Given the description of an element on the screen output the (x, y) to click on. 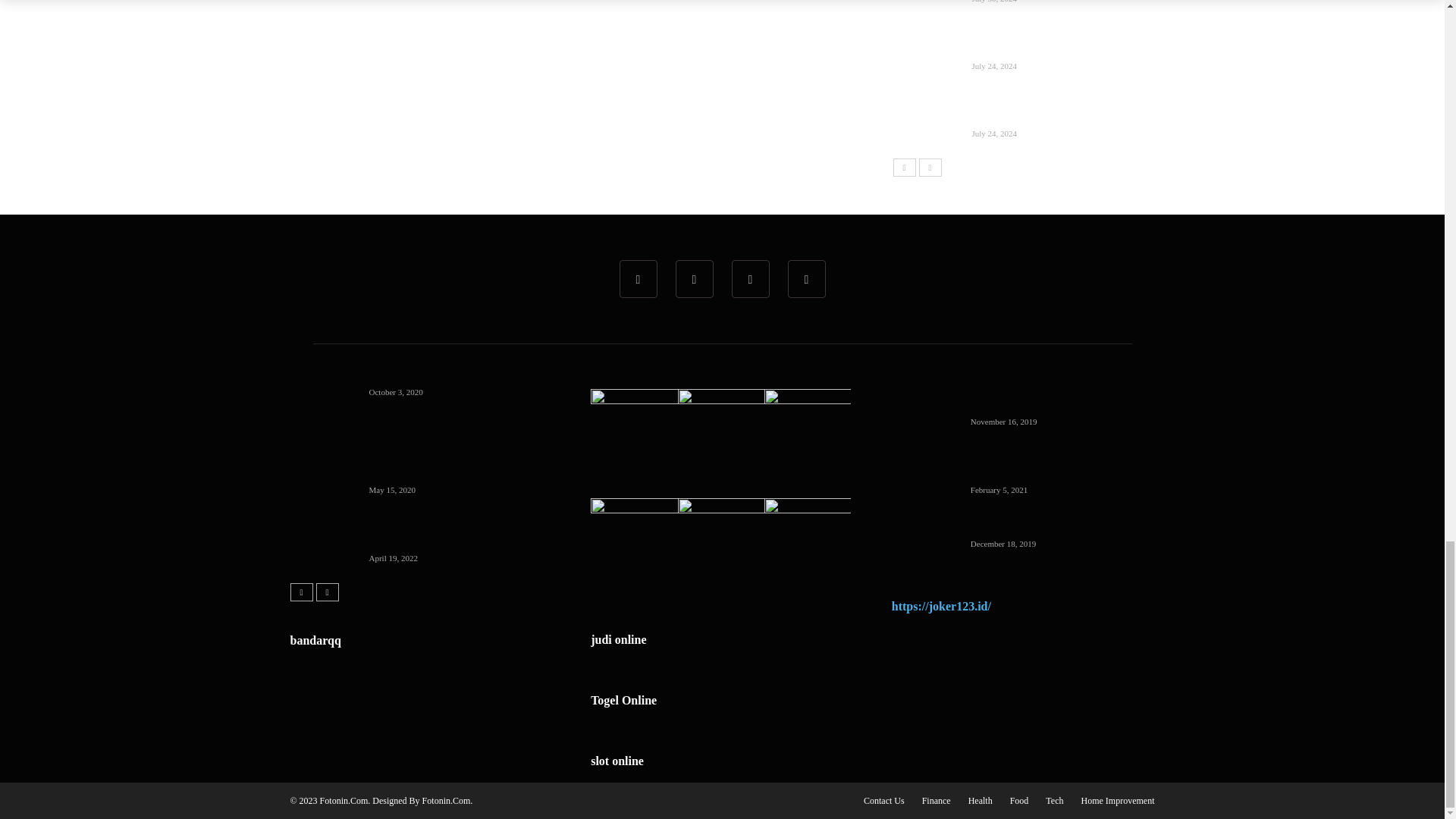
Previous (904, 167)
Previous (301, 592)
Next (930, 167)
Next (326, 592)
